Given the description of an element on the screen output the (x, y) to click on. 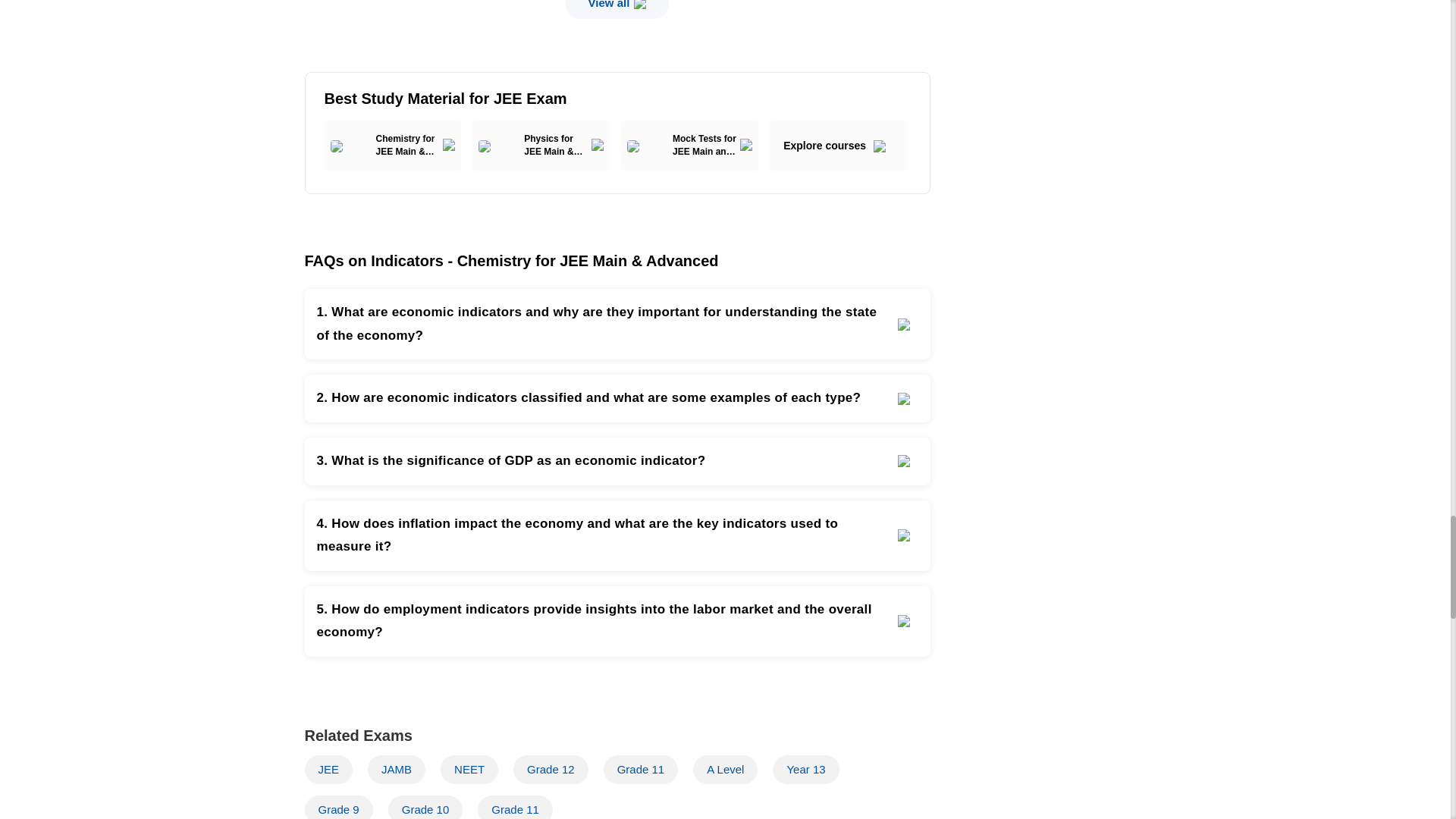
Mock Tests for JEE Main and Advanced 2025 (689, 145)
Explore courses (838, 145)
NEET (469, 769)
Grade 10 (425, 807)
Grade 12 (550, 769)
Grade 9 (338, 807)
Grade 11 (515, 807)
A Level (725, 769)
Year 13 (805, 769)
View all (617, 9)
